Given the description of an element on the screen output the (x, y) to click on. 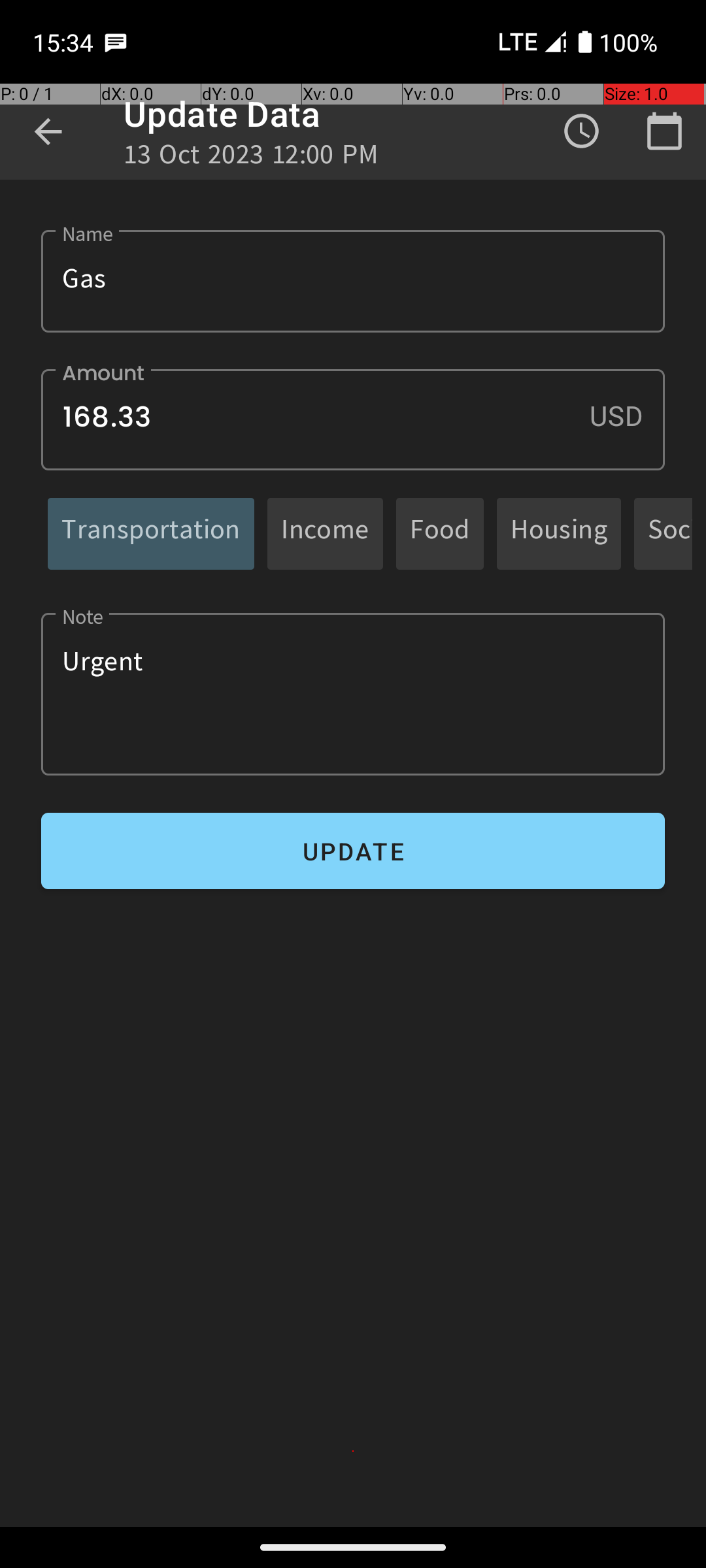
13 Oct 2023 12:00 PM Element type: android.widget.TextView (250, 157)
Gas Element type: android.widget.EditText (352, 280)
168.33 Element type: android.widget.EditText (352, 419)
Urgent Element type: android.widget.EditText (352, 693)
Transportation Element type: android.widget.TextView (150, 533)
